Given the description of an element on the screen output the (x, y) to click on. 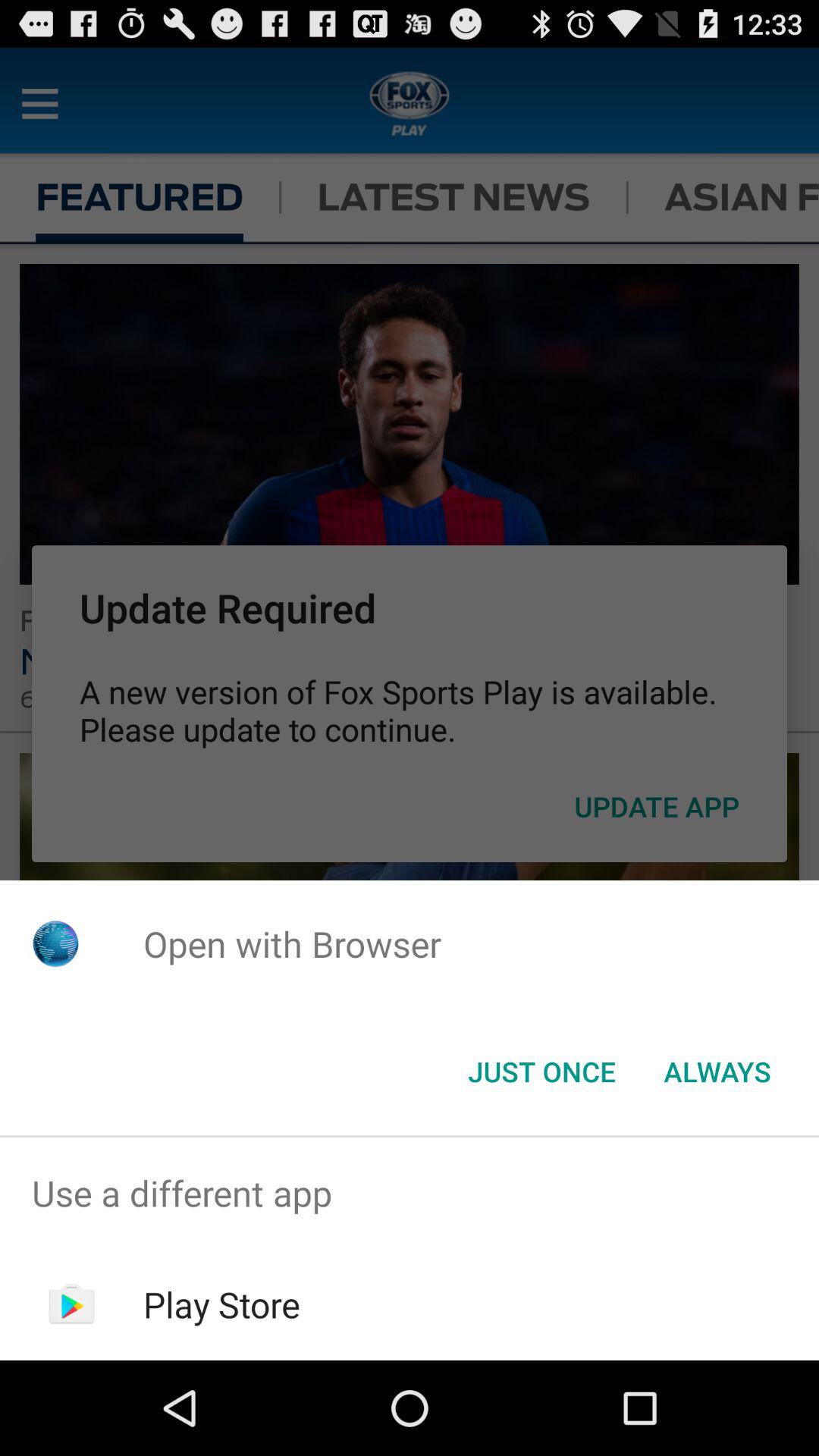
turn off use a different app (409, 1192)
